Given the description of an element on the screen output the (x, y) to click on. 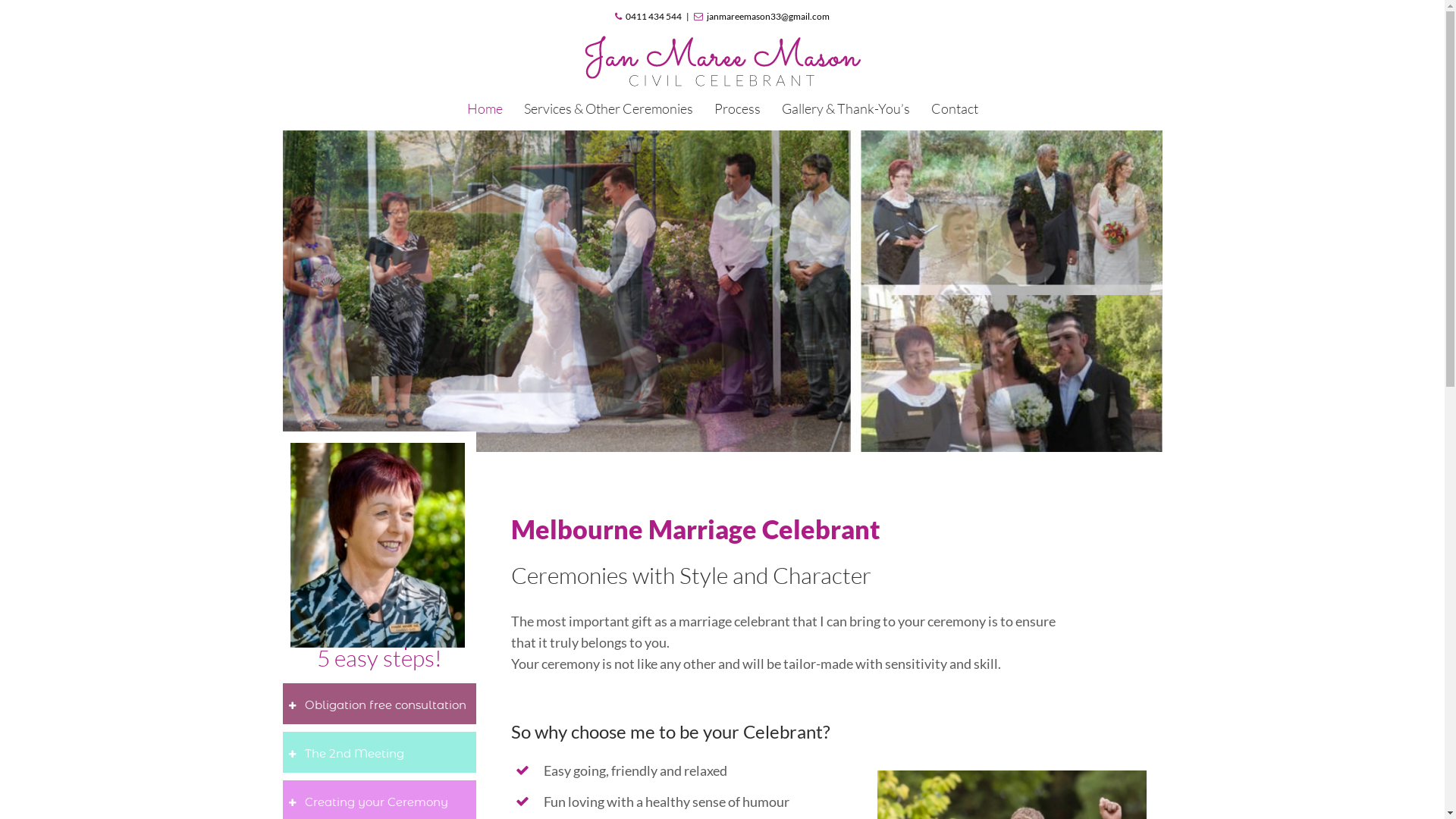
Contact Element type: text (954, 108)
The 2nd Meeting Element type: text (378, 751)
janmareemason33@gmail.com Element type: text (761, 15)
Home Element type: text (484, 108)
Obligation free consultation Element type: text (378, 703)
Services & Other Ceremonies Element type: text (607, 108)
Process Element type: text (737, 108)
0411 434 544 Element type: text (648, 15)
